Given the description of an element on the screen output the (x, y) to click on. 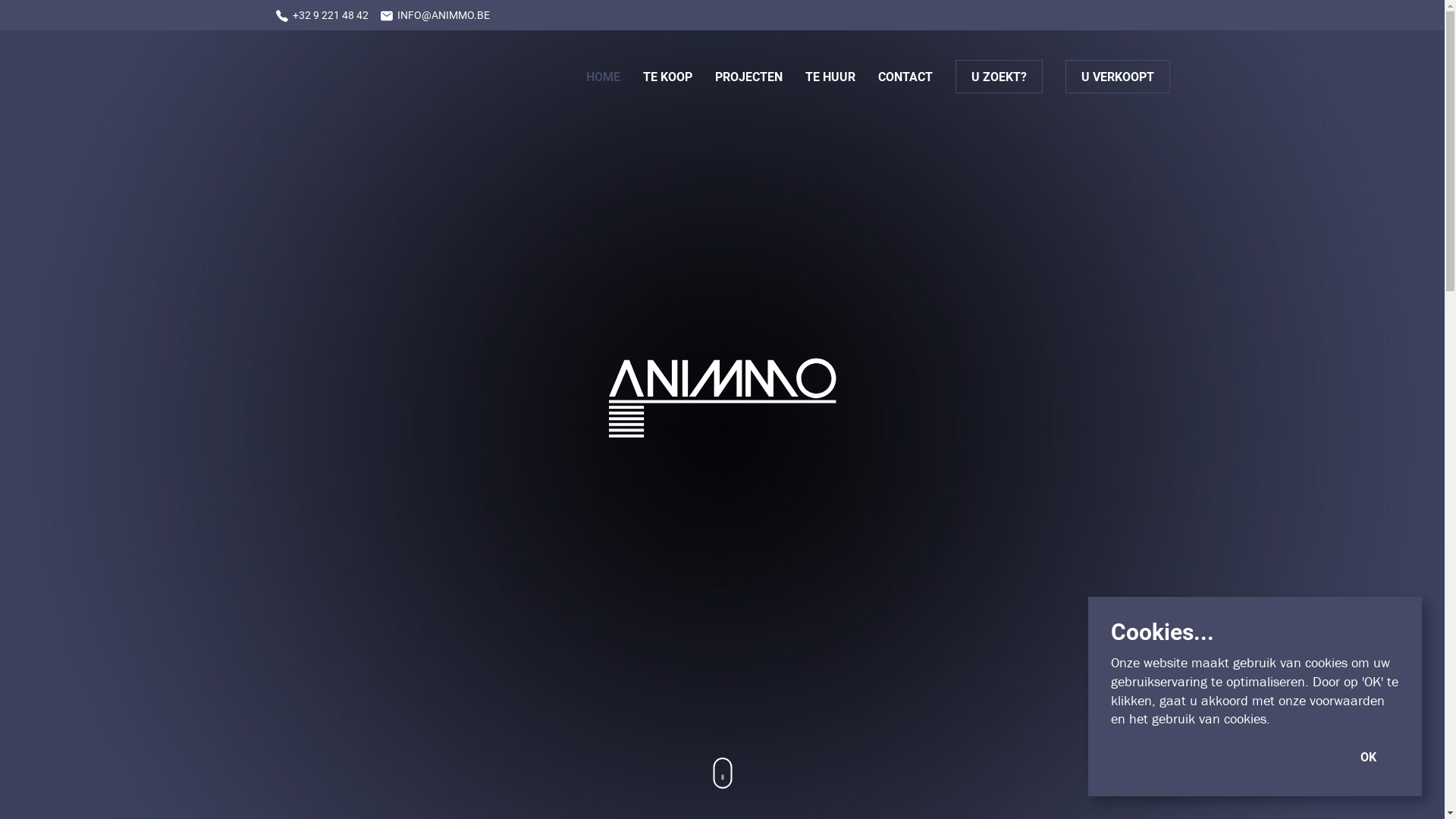
U ZOEKT? Element type: text (998, 76)
+32 9 221 48 42 Element type: text (320, 14)
TE KOOP Element type: text (667, 76)
CONTACT Element type: text (905, 76)
U VERKOOPT Element type: text (1117, 76)
INFO@ANIMMO.BE Element type: text (434, 14)
PROJECTEN Element type: text (747, 76)
HOME Element type: text (602, 76)
OK Element type: text (1368, 756)
TE HUUR Element type: text (830, 76)
